Given the description of an element on the screen output the (x, y) to click on. 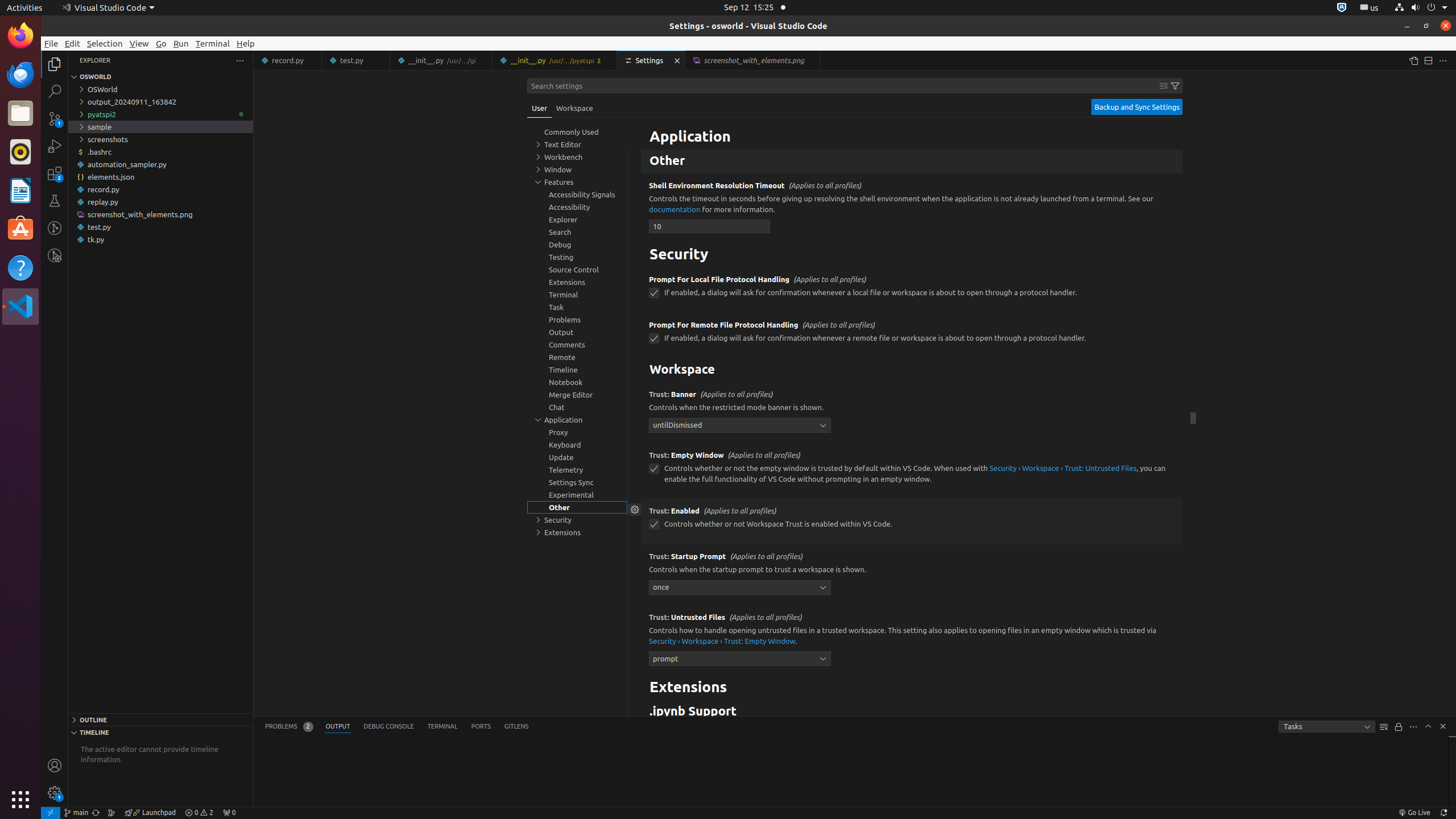
GitLens Element type: page-tab (516, 726)
Explorer (Ctrl+Shift+E) Element type: page-tab (54, 63)
tk.py Element type: tree-item (160, 239)
Workspace Element type: tree-item (911, 370)
Security › Workspace › Trust: Empty Window Element type: link (721, 640)
